Given the description of an element on the screen output the (x, y) to click on. 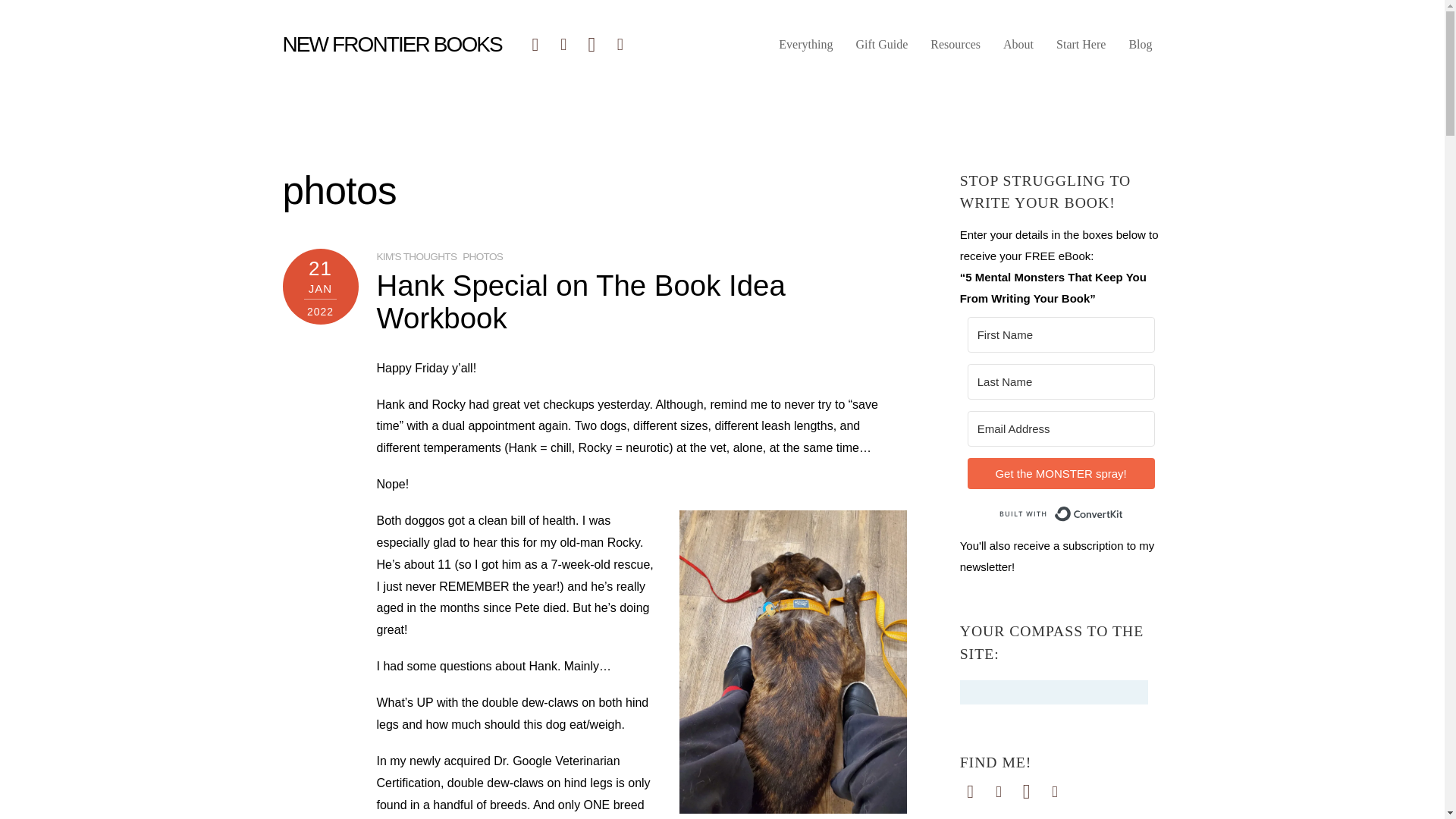
About (1018, 50)
KIM'S THOUGHTS (416, 256)
Search (1053, 692)
NEW FRONTIER BOOKS (391, 44)
Blog (1139, 50)
Resources (955, 50)
Gift Guide (881, 50)
PHOTOS (482, 256)
Hank Special on The Book Idea Workbook (579, 301)
Start Here (1080, 50)
Everything (805, 50)
New Frontier Books (391, 44)
